Given the description of an element on the screen output the (x, y) to click on. 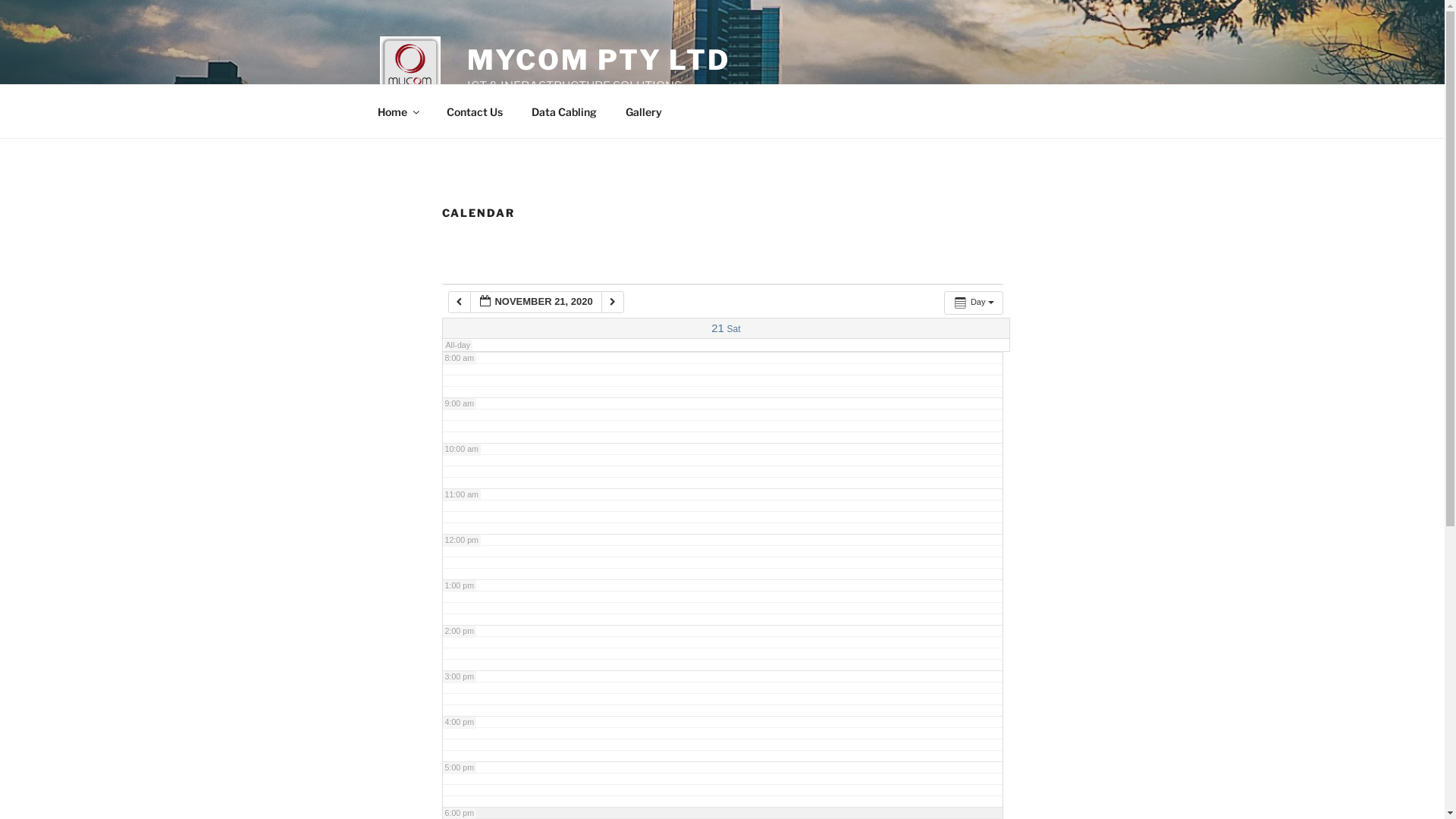
MYCOM PTY LTD Element type: text (598, 59)
21 Sat Element type: text (725, 328)
Day Element type: text (973, 302)
Contact Us Element type: text (474, 110)
Skip to content Element type: text (0, 0)
Data Cabling Element type: text (564, 110)
Home Element type: text (397, 110)
NOVEMBER 21, 2020 Element type: text (536, 302)
Gallery Element type: text (643, 110)
